Given the description of an element on the screen output the (x, y) to click on. 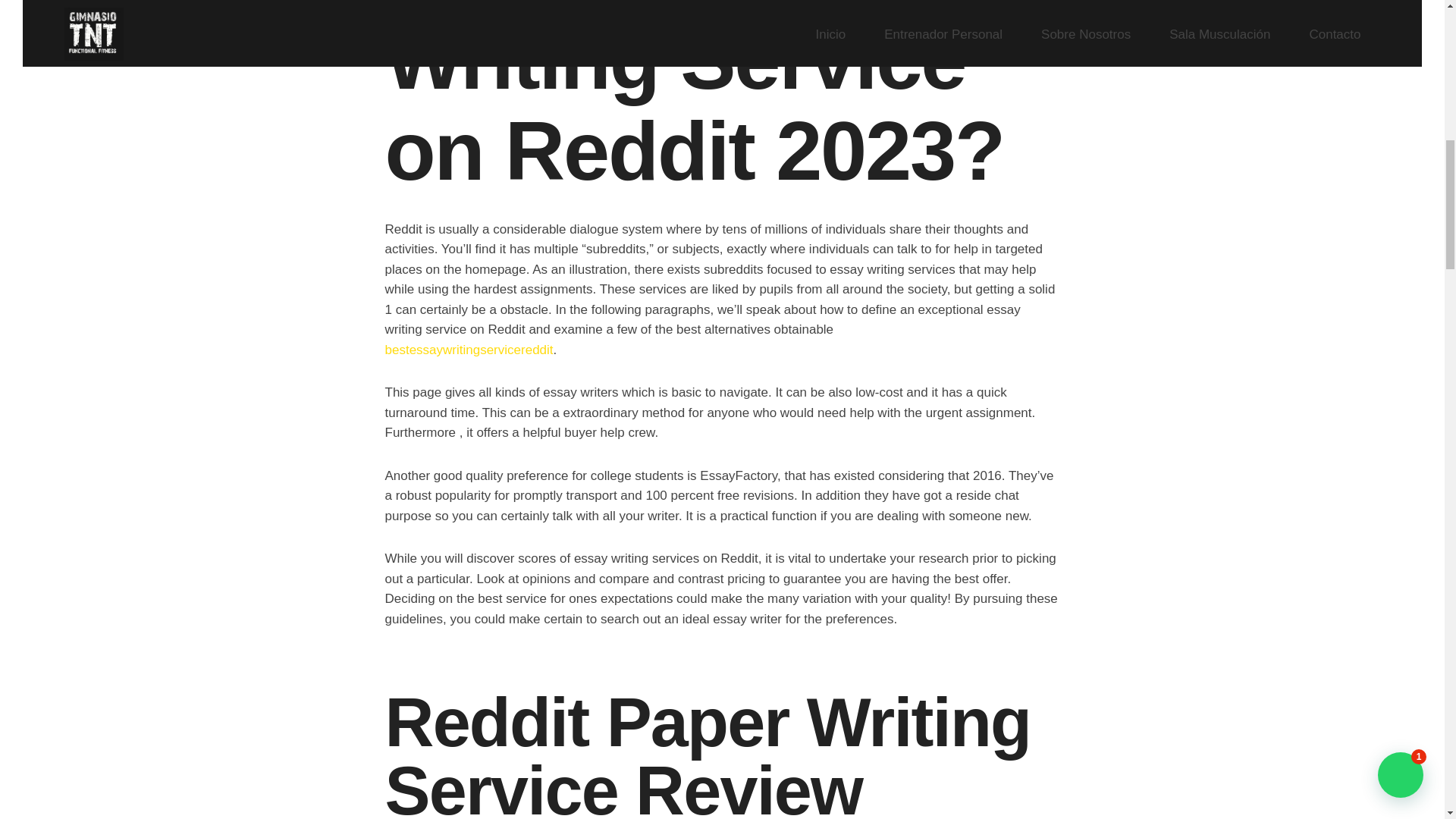
bestessaywritingservicereddit (469, 350)
